Given the description of an element on the screen output the (x, y) to click on. 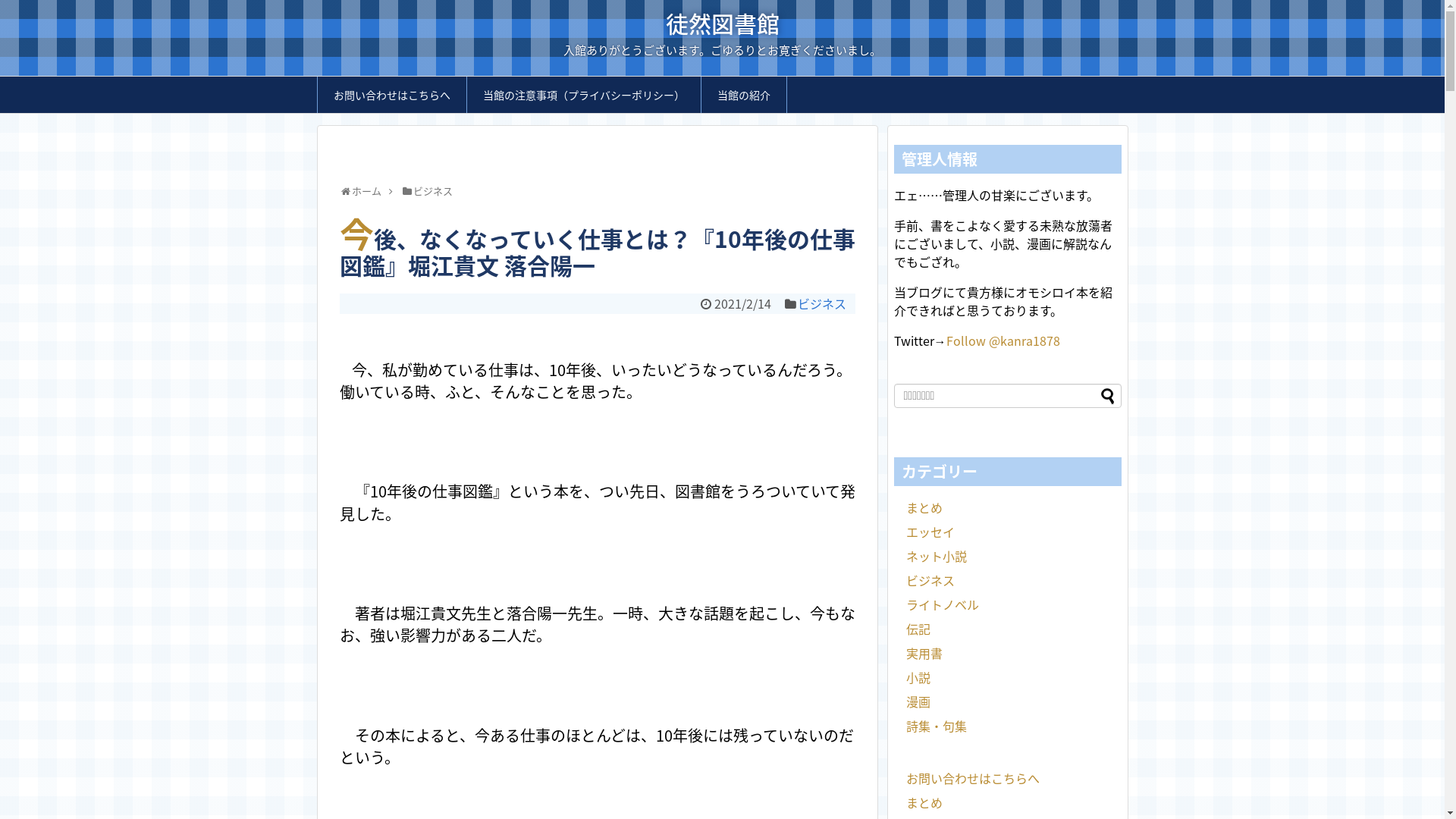
Follow @kanra1878 Element type: text (1003, 340)
